Given the description of an element on the screen output the (x, y) to click on. 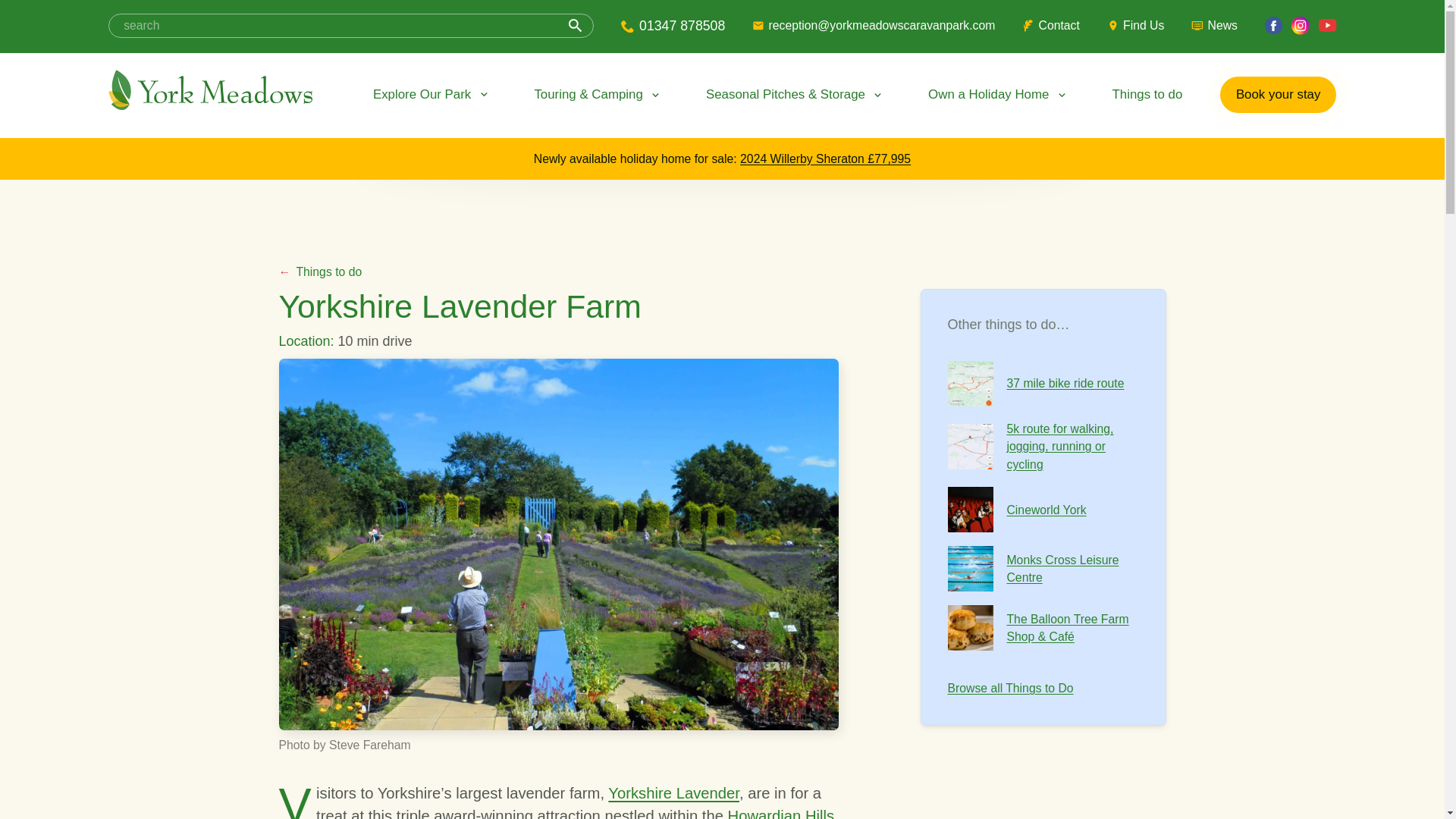
Yorkshire Lavender (673, 792)
Facebook (1273, 25)
News (1214, 25)
01347 878508 (673, 26)
Youtube (1327, 25)
Own a Holiday Home (997, 94)
Instagram (1299, 25)
Book your stay (1278, 94)
Howardian Hills (781, 813)
Find Us (1135, 25)
Things to do (320, 271)
Contact (1051, 25)
Explore Our Park (431, 94)
Things to do (1147, 94)
